Given the description of an element on the screen output the (x, y) to click on. 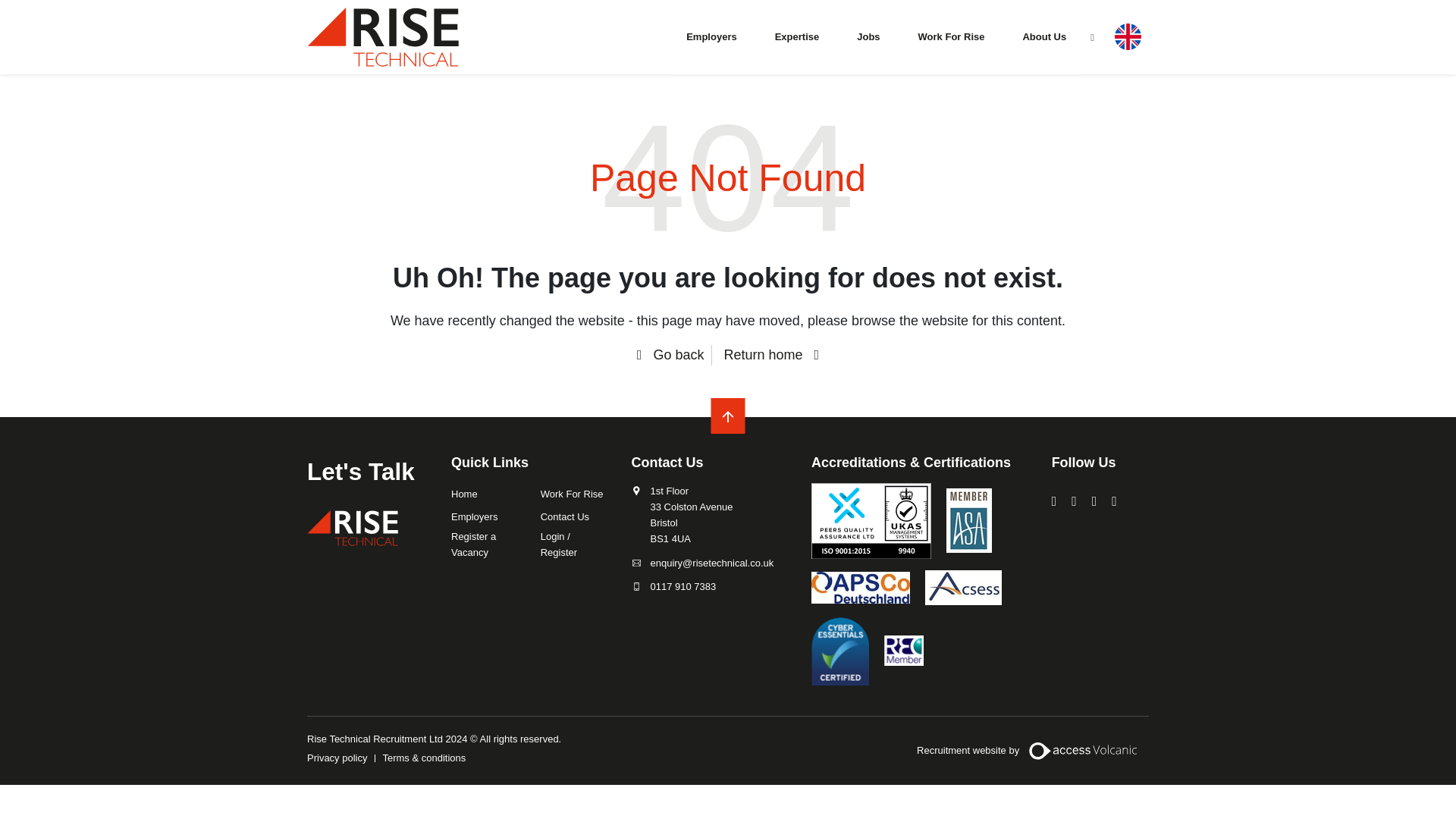
Rise Technical Recruitment Ltd (352, 527)
Jobs (868, 36)
About Us (1044, 36)
Rise Technical Recruitment Ltd (352, 528)
Up (727, 416)
Expertise (797, 36)
Work For Rise (951, 36)
Employers (711, 36)
Rise Technical Recruitment Ltd (382, 36)
